Given the description of an element on the screen output the (x, y) to click on. 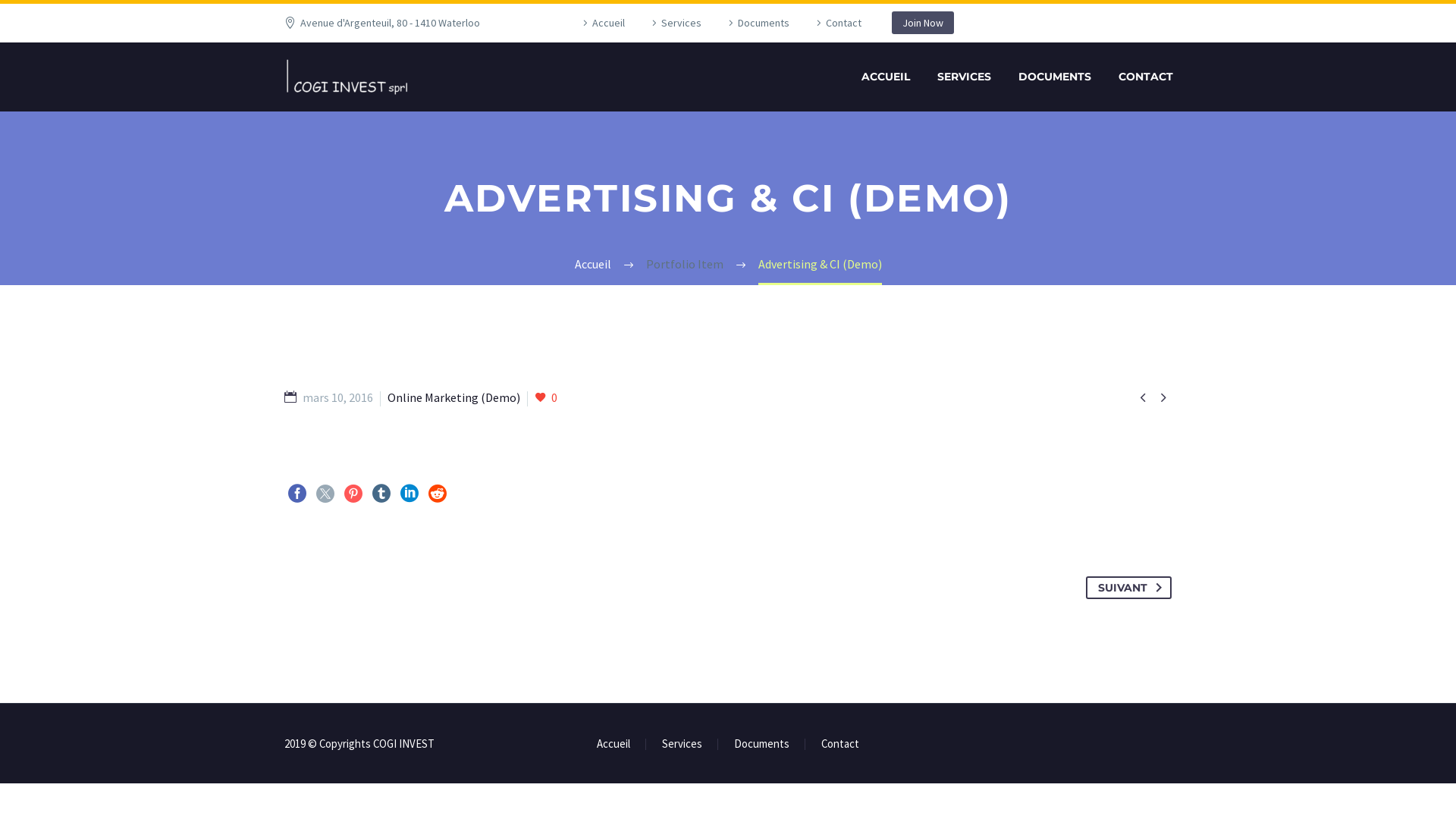
Services Element type: text (674, 22)
ACCUEIL Element type: text (885, 76)
Accueil Element type: text (592, 263)
Accueil Element type: text (613, 743)
Contact Element type: text (836, 22)
DOCUMENTS Element type: text (1054, 76)
Tumblr Element type: hover (381, 493)
Pinterest Element type: hover (353, 493)
SERVICES Element type: text (963, 76)
Join Now Element type: text (922, 22)
Documents Element type: text (761, 743)
SUIVANT Element type: text (1128, 587)
Contact Element type: text (840, 743)
Accueil Element type: text (601, 22)
Documents Element type: text (756, 22)
Facebook Element type: hover (297, 493)
LinkedIn Element type: hover (409, 493)
Twitter Element type: hover (325, 493)
Reddit Element type: hover (437, 493)
0 Element type: text (545, 397)
CONTACT Element type: text (1145, 76)
Services Element type: text (682, 743)
